Given the description of an element on the screen output the (x, y) to click on. 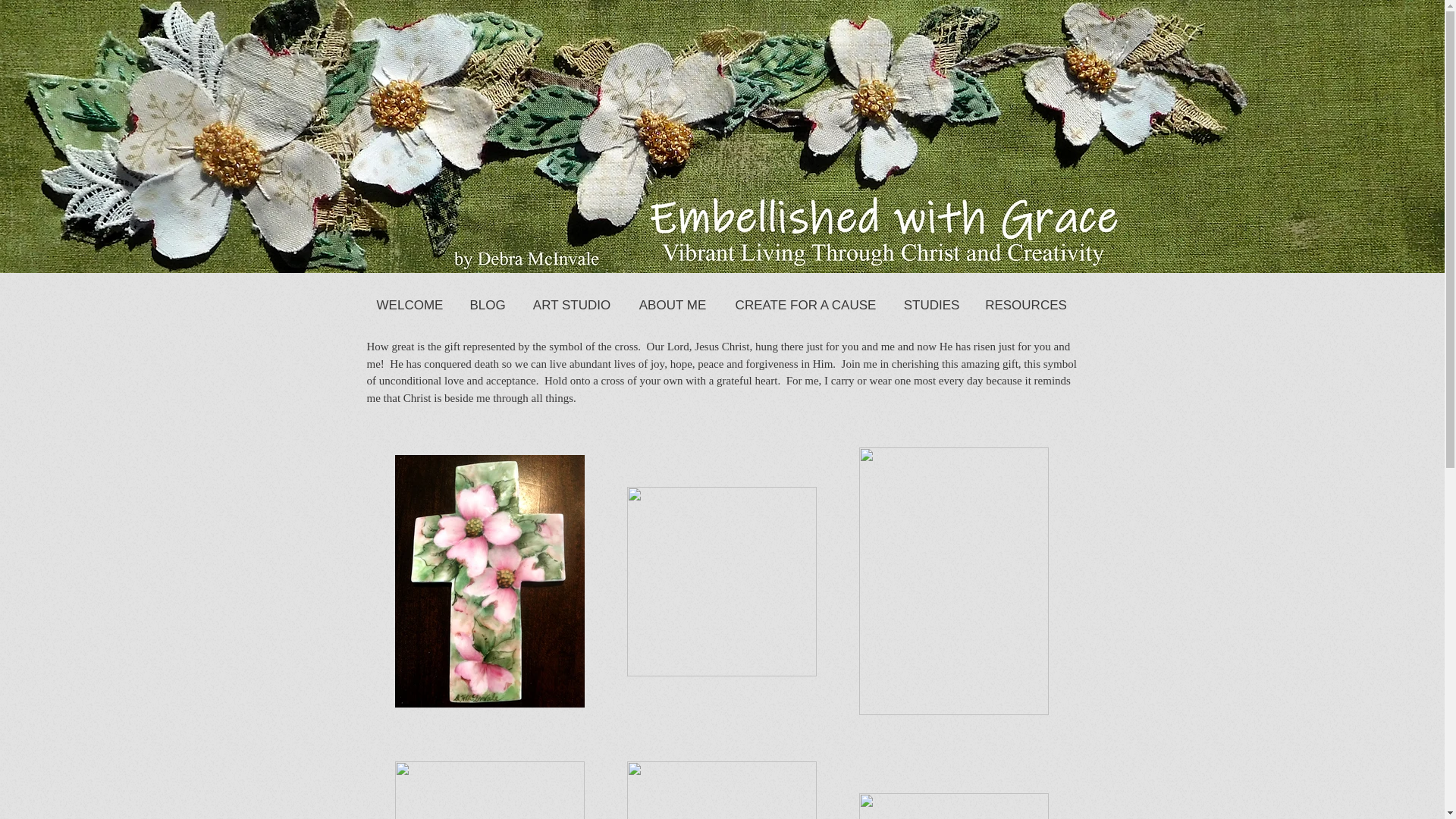
RESOURCES (1026, 305)
ABOUT ME (672, 305)
WELCOME (409, 305)
ART STUDIO (571, 305)
STUDIES (931, 305)
BLOG (487, 305)
CREATE FOR A CAUSE (805, 305)
